Given the description of an element on the screen output the (x, y) to click on. 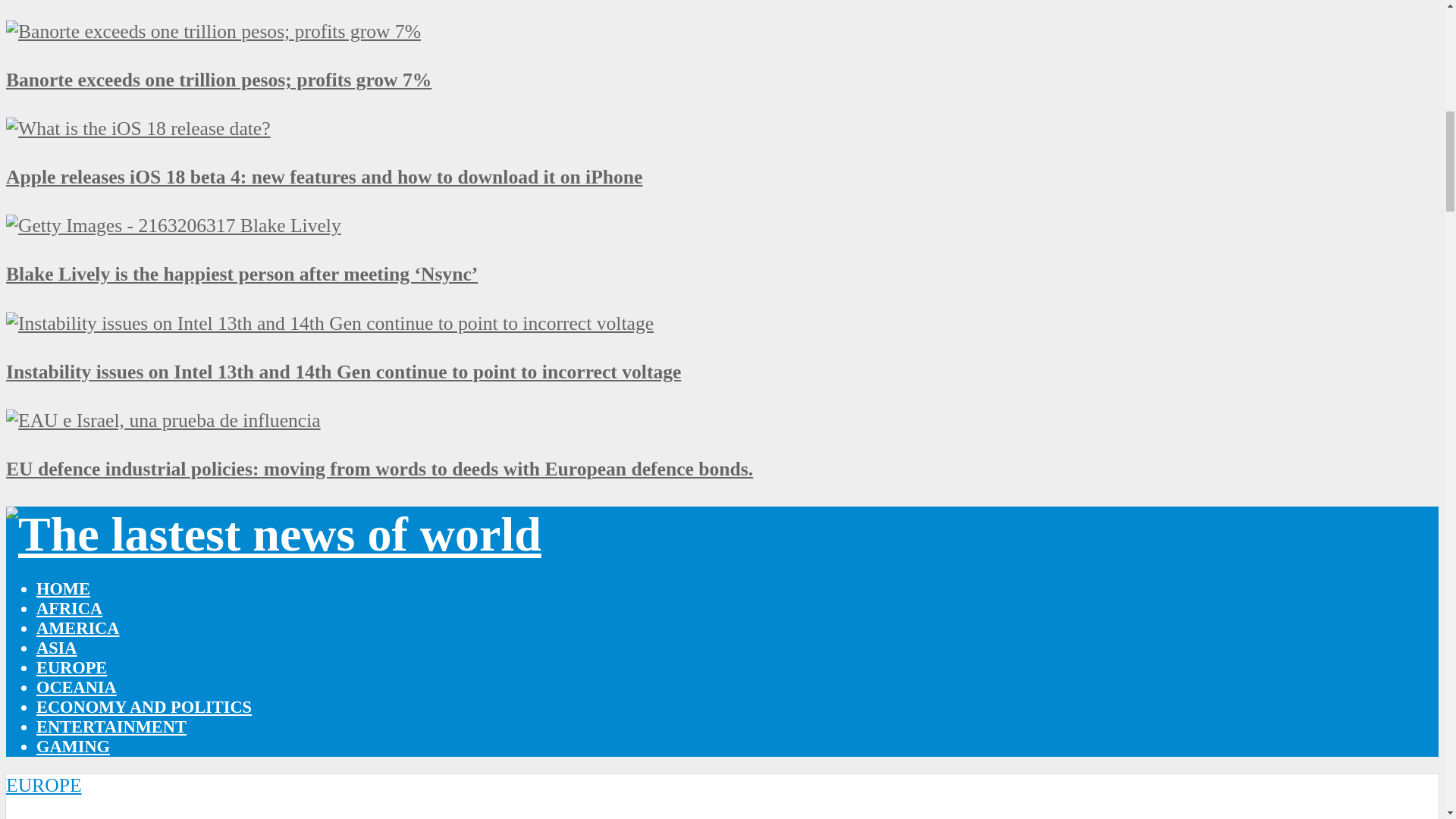
ENTERTAINMENT (111, 726)
OCEANIA (76, 687)
ECONOMY AND POLITICS (143, 706)
AFRICA (68, 608)
EUROPE (71, 667)
HOME (63, 588)
AMERICA (77, 628)
ASIA (56, 647)
